Given the description of an element on the screen output the (x, y) to click on. 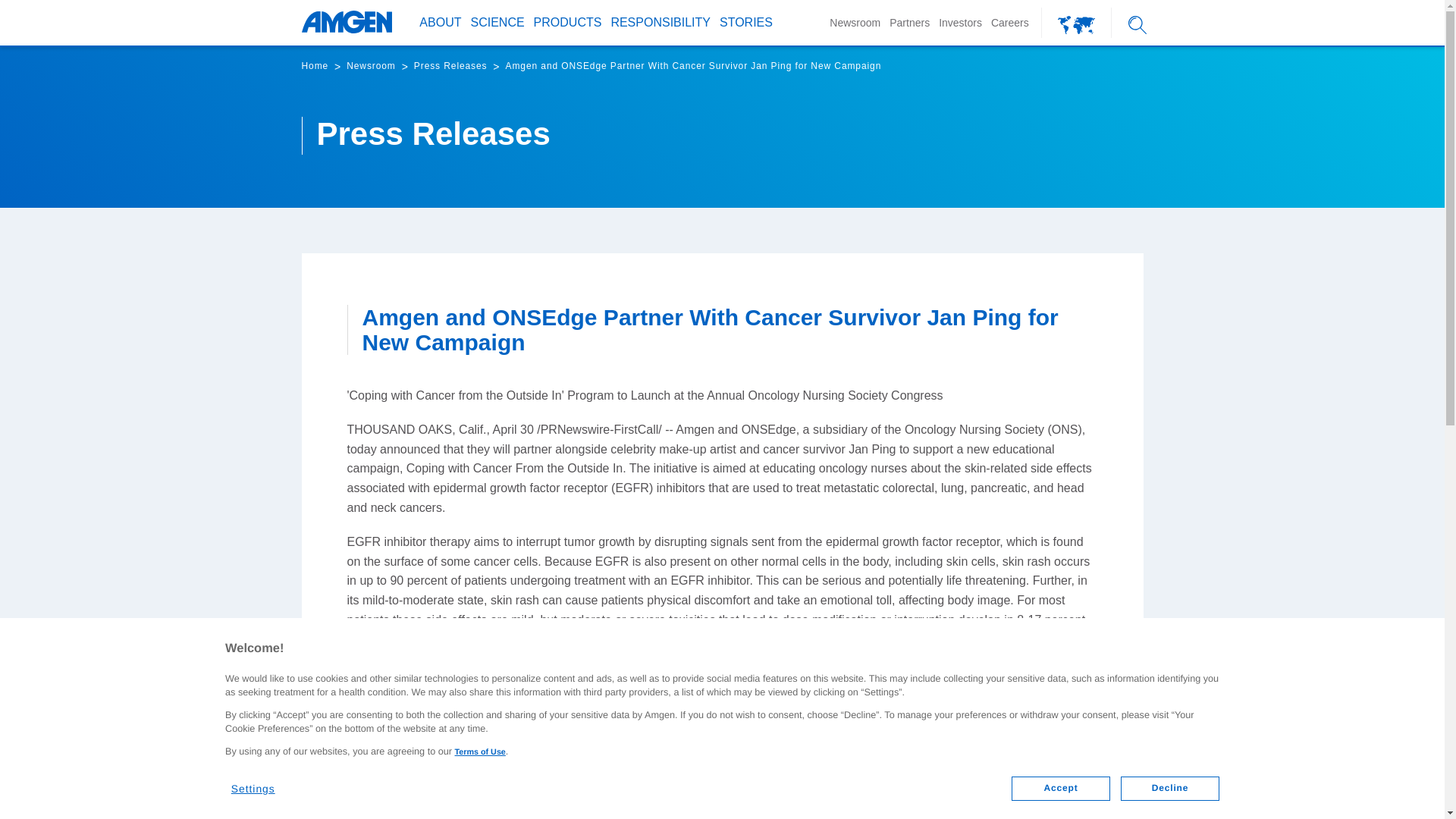
Accept (1060, 788)
Decline (1170, 788)
Terms of Use (479, 751)
Settings (262, 782)
